Given the description of an element on the screen output the (x, y) to click on. 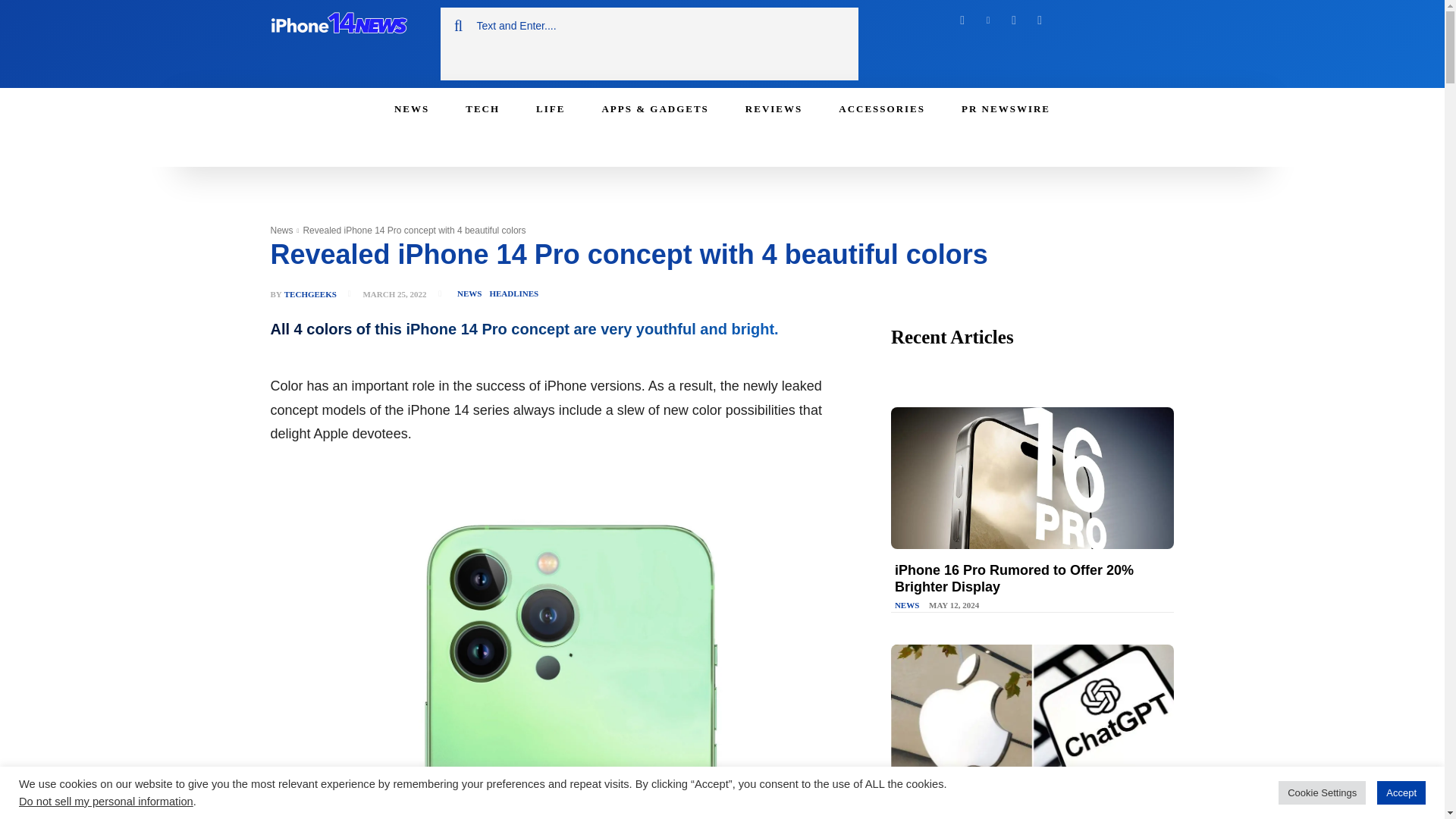
NEWS (410, 108)
HEADLINES (512, 293)
PR NEWSWIRE (1005, 108)
Facebook (962, 20)
Twitter (1013, 20)
View all posts in News (280, 230)
iphone 14 news (337, 26)
iphone 14 news (345, 26)
News (280, 230)
NEWS (468, 293)
LIFE (550, 108)
Text and Enter.... (648, 25)
ACCESSORIES (882, 108)
TECH (482, 108)
TECHGEEKS (309, 294)
